Given the description of an element on the screen output the (x, y) to click on. 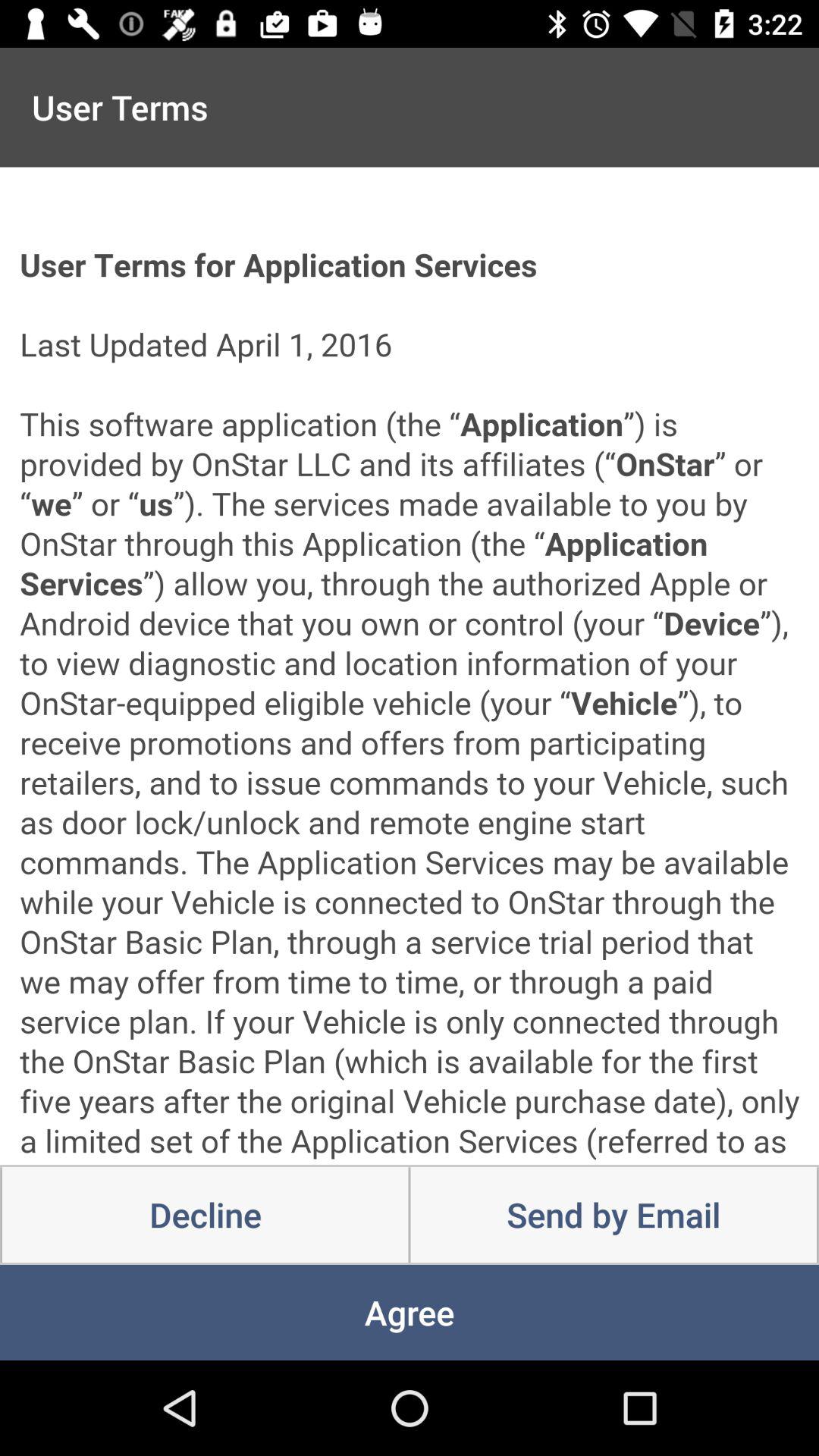
press the decline (205, 1214)
